Given the description of an element on the screen output the (x, y) to click on. 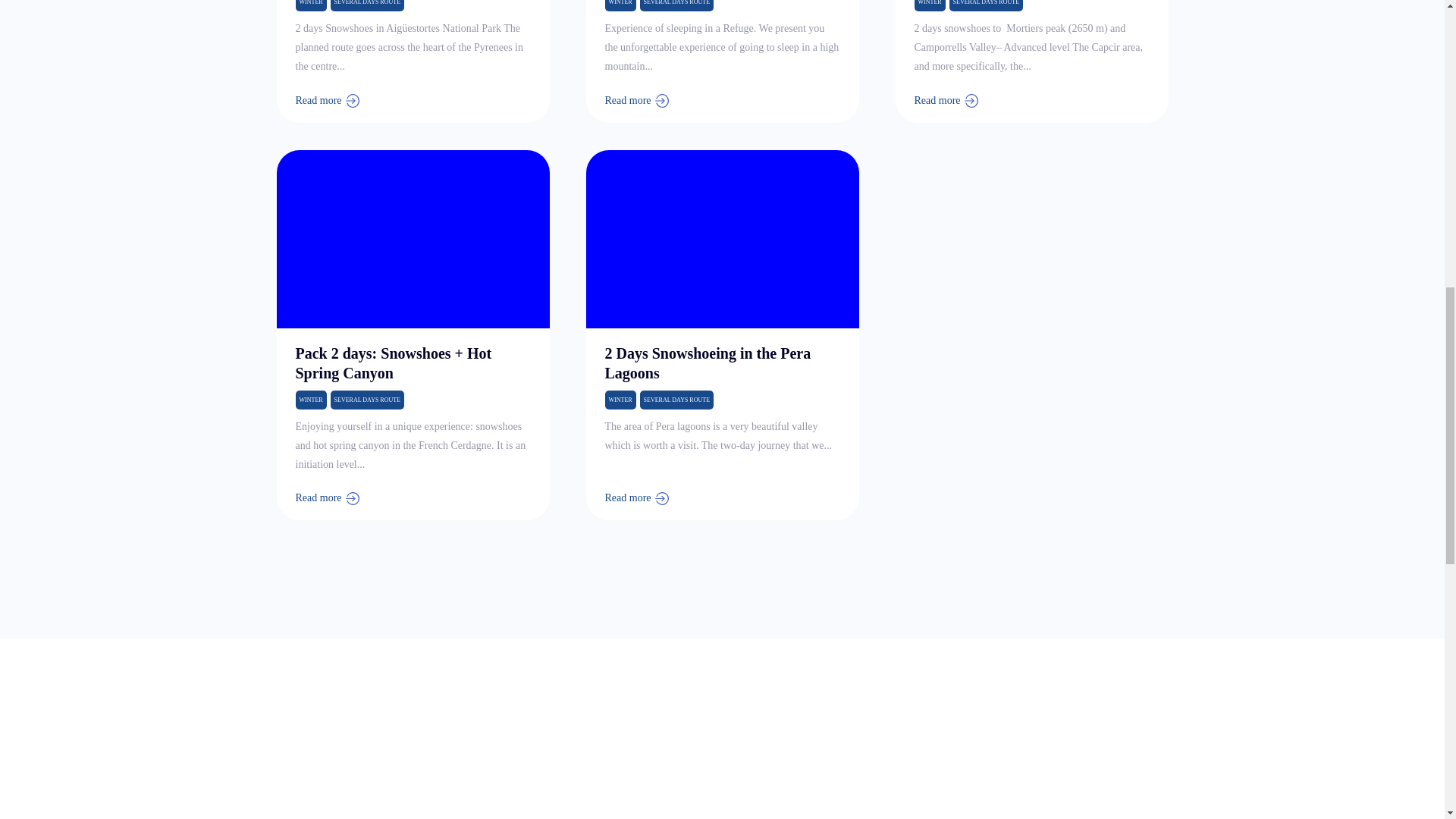
WINTER (620, 399)
SEVERAL DAYS ROUTE (676, 5)
WINTER (929, 5)
SEVERAL DAYS ROUTE (367, 399)
SEVERAL DAYS ROUTE (986, 5)
SEVERAL DAYS ROUTE (367, 5)
WINTER (310, 5)
Read more (947, 100)
WINTER (620, 5)
Read more (328, 100)
